Given the description of an element on the screen output the (x, y) to click on. 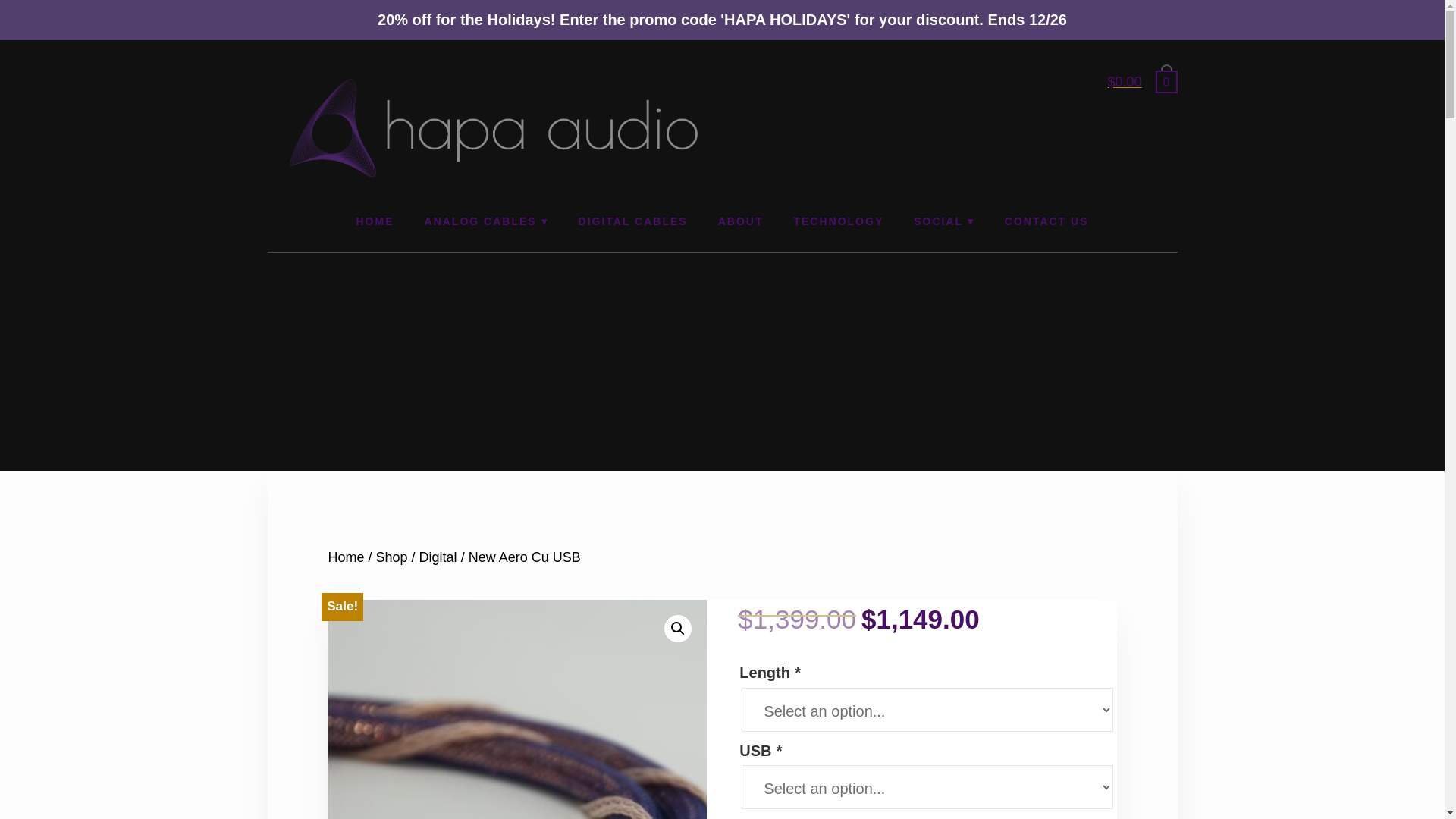
Home (345, 557)
ABOUT (740, 220)
Digital (438, 557)
TECHNOLOGY (837, 220)
DIGITAL CABLES (633, 220)
Shop (391, 557)
View your shopping cart (1132, 82)
ANALOG CABLES (486, 220)
HOME (374, 220)
SOCIAL (944, 220)
CONTACT US (1046, 220)
